Given the description of an element on the screen output the (x, y) to click on. 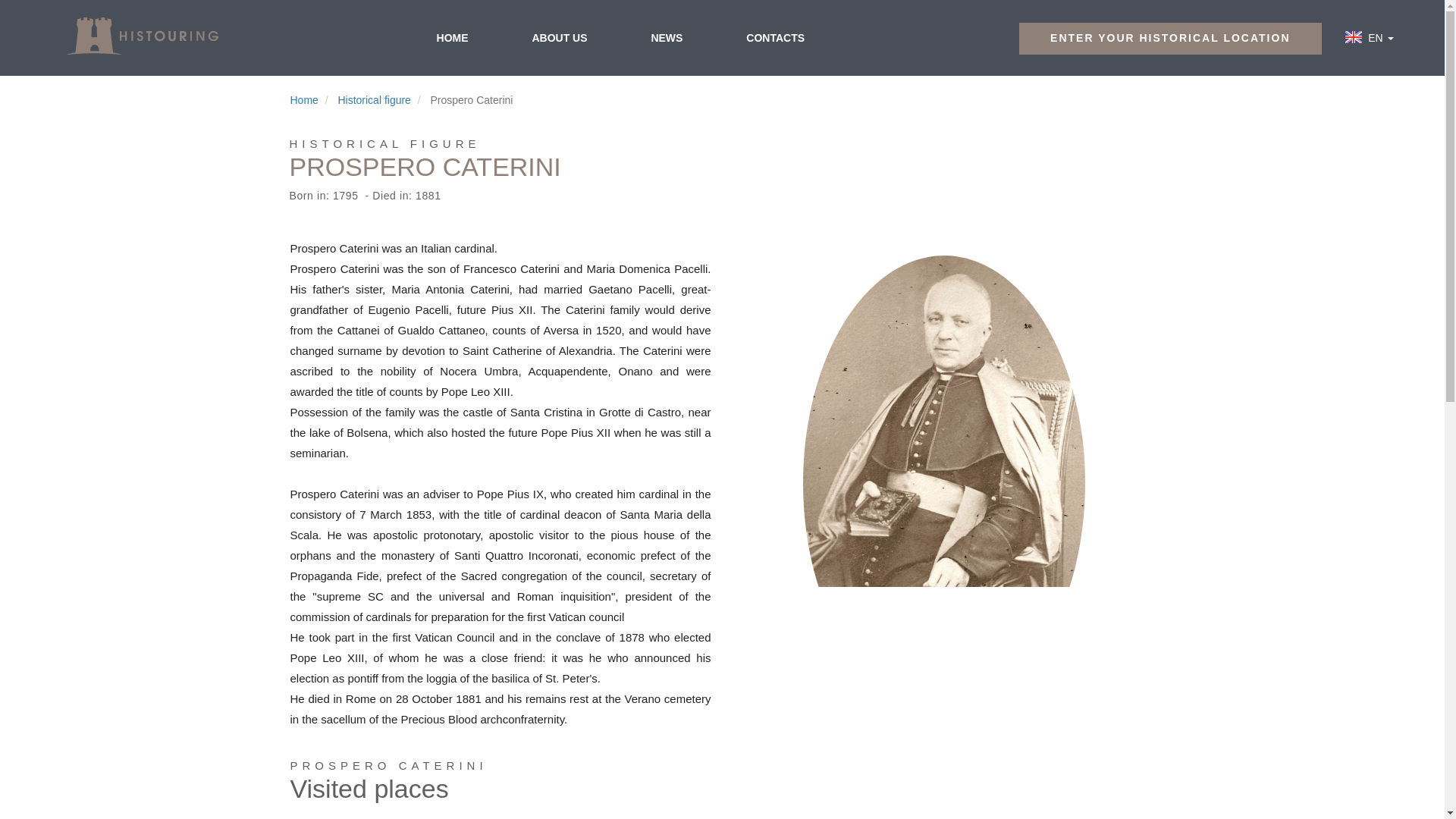
  EN  (1377, 37)
HOME (452, 37)
NEWS (666, 37)
Histouring (141, 35)
Histouring (141, 35)
CONTACTS (775, 37)
Histouring (141, 35)
Home (303, 100)
ABOUT US (558, 37)
NEWS (666, 37)
